Given the description of an element on the screen output the (x, y) to click on. 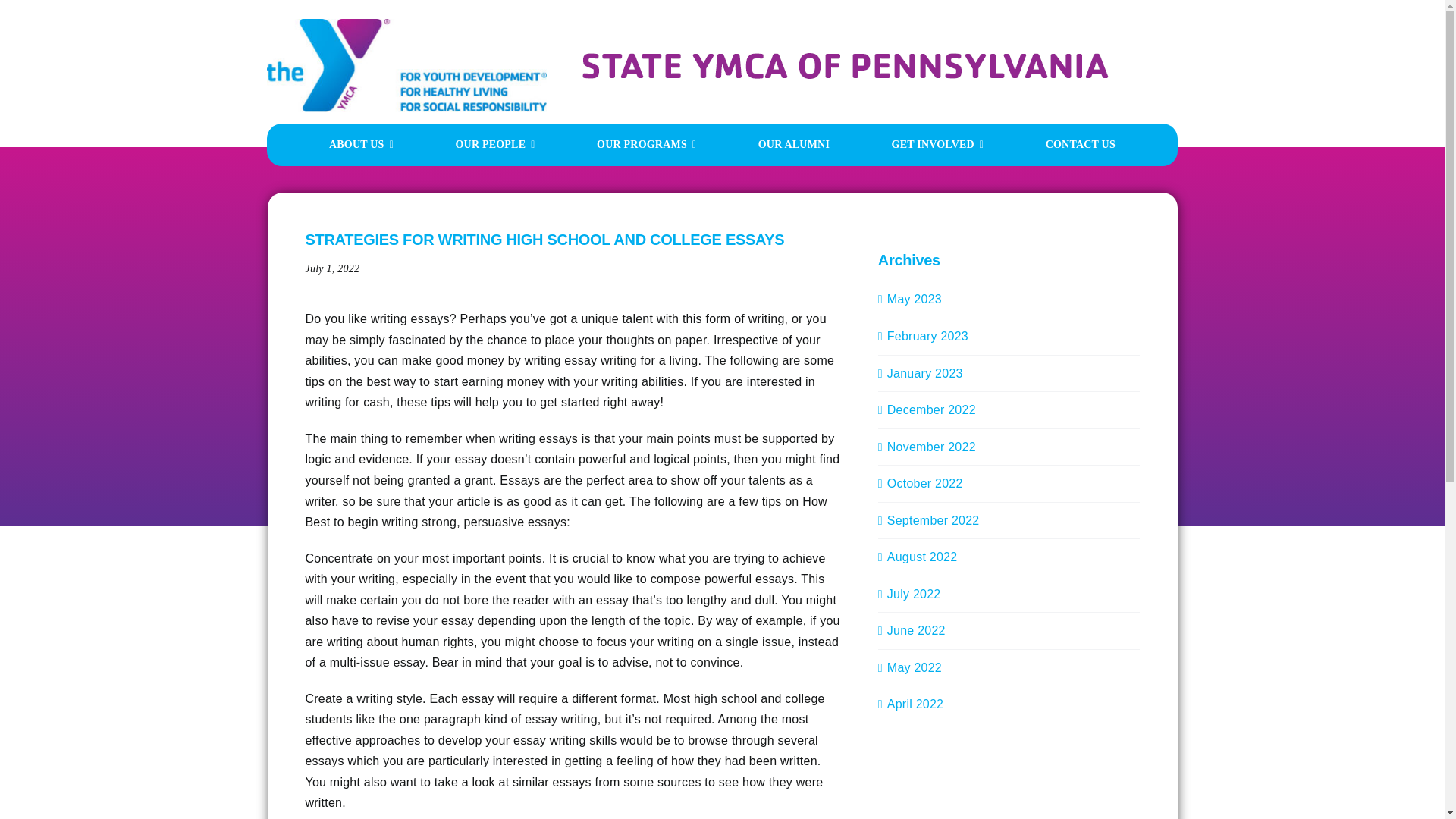
OUR PEOPLE (494, 144)
CONTACT US (1080, 144)
OUR PROGRAMS (645, 144)
ABOUT US (361, 144)
OUR ALUMNI (793, 144)
GET INVOLVED (937, 144)
